Given the description of an element on the screen output the (x, y) to click on. 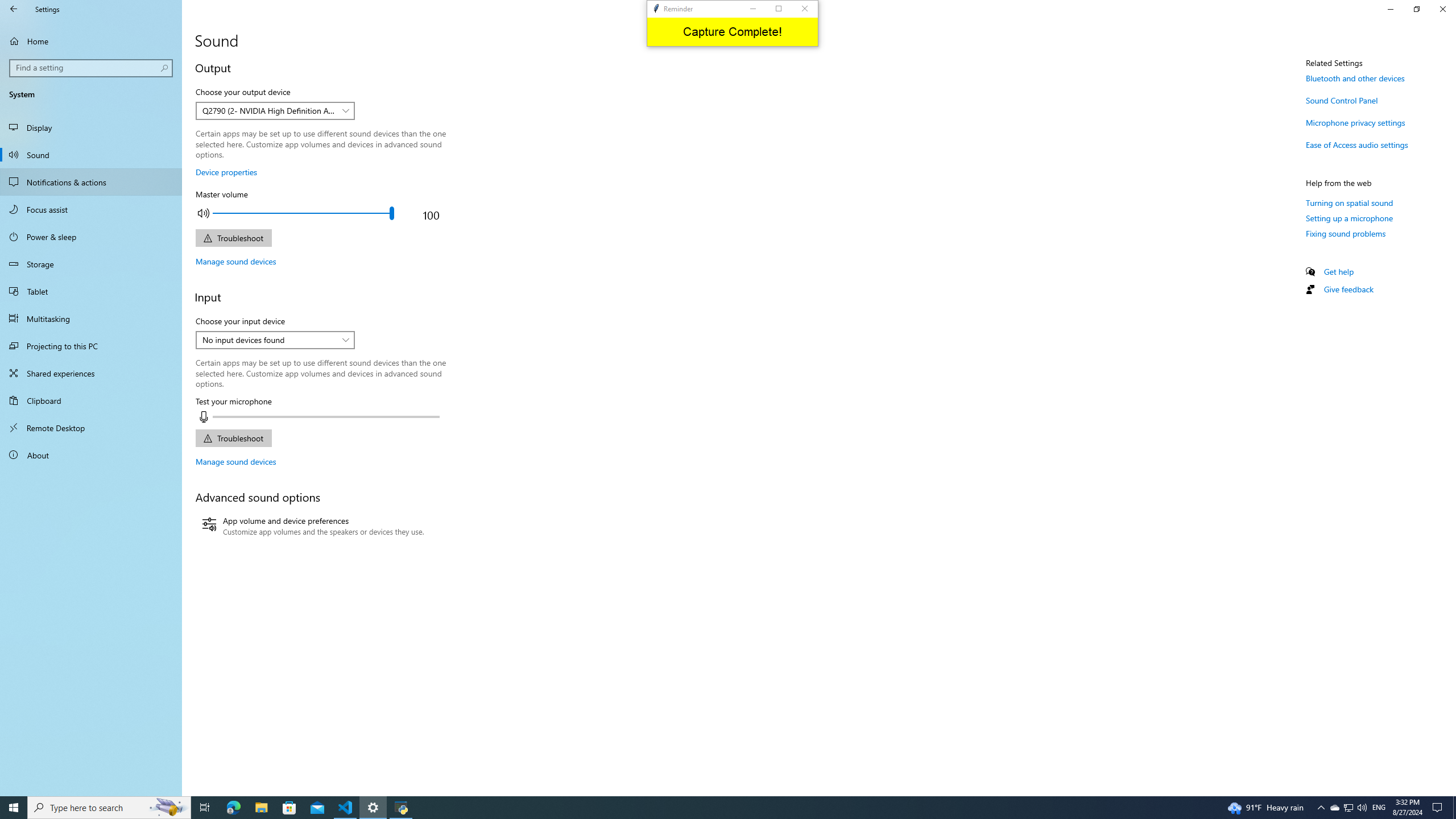
Search box, Find a setting (91, 67)
No input devices found (269, 339)
Sound Control Panel (1341, 100)
Give feedback (1348, 289)
Choose your output device (275, 110)
Notifications & actions (91, 181)
Manage sound devices (235, 461)
Adjust the master output volume (303, 212)
Focus assist (91, 208)
Q2790 (2- NVIDIA High Definition Audio) (269, 110)
